Given the description of an element on the screen output the (x, y) to click on. 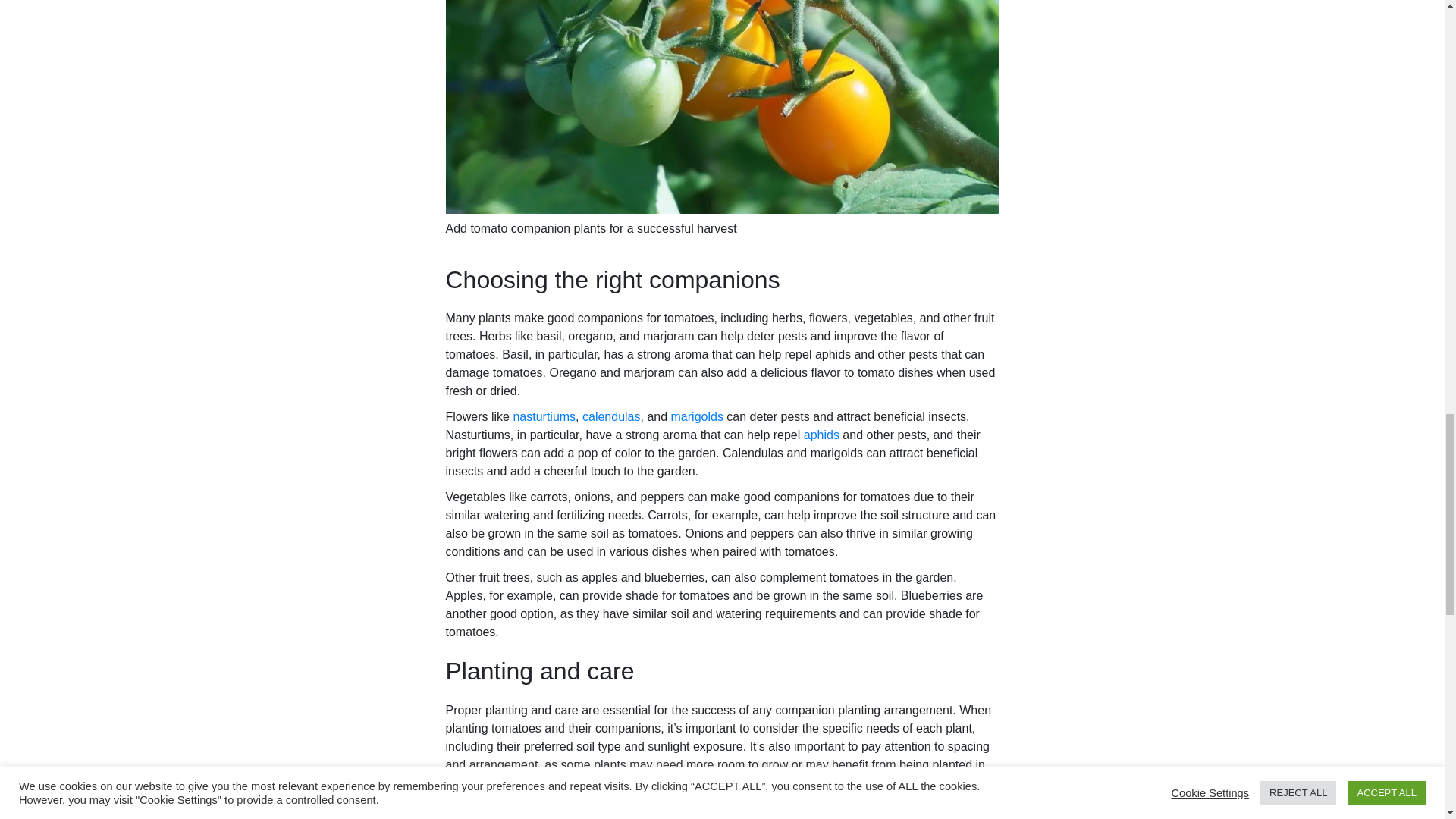
nasturtiums (543, 416)
marigolds (697, 416)
aphids (821, 434)
calendulas (611, 416)
